Given the description of an element on the screen output the (x, y) to click on. 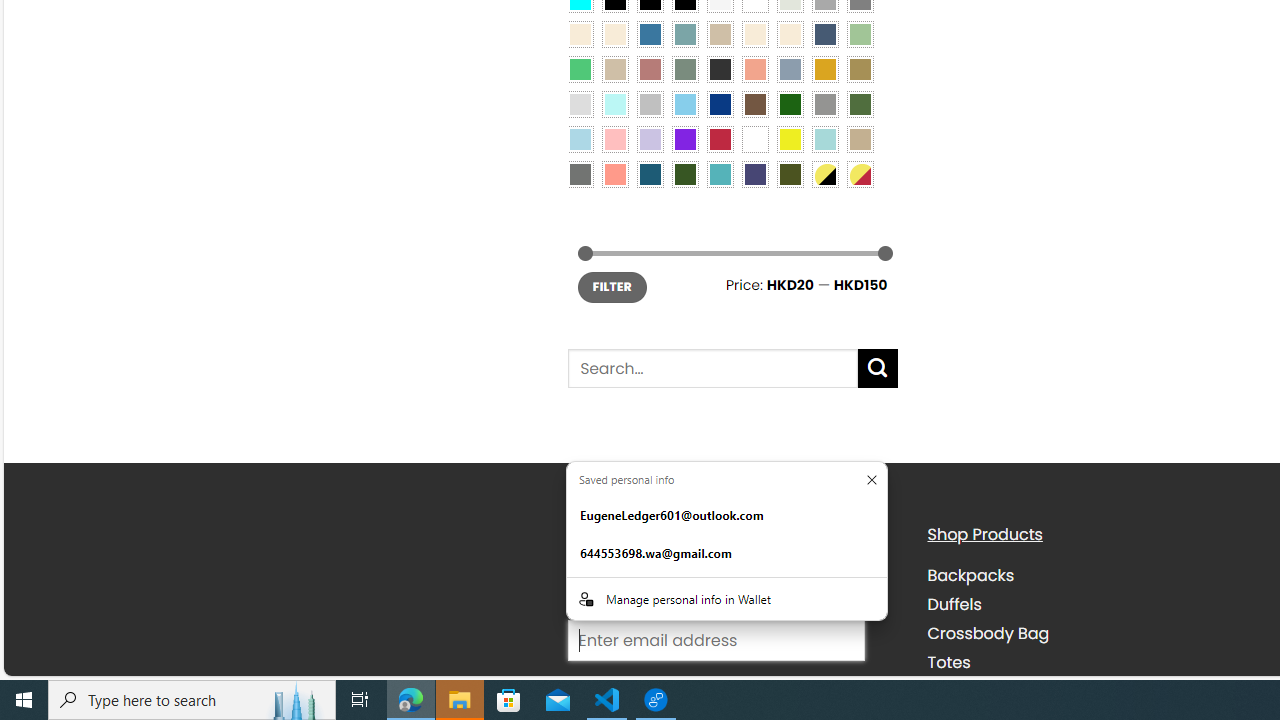
Don't show saved information (871, 479)
Green (859, 103)
